Given the description of an element on the screen output the (x, y) to click on. 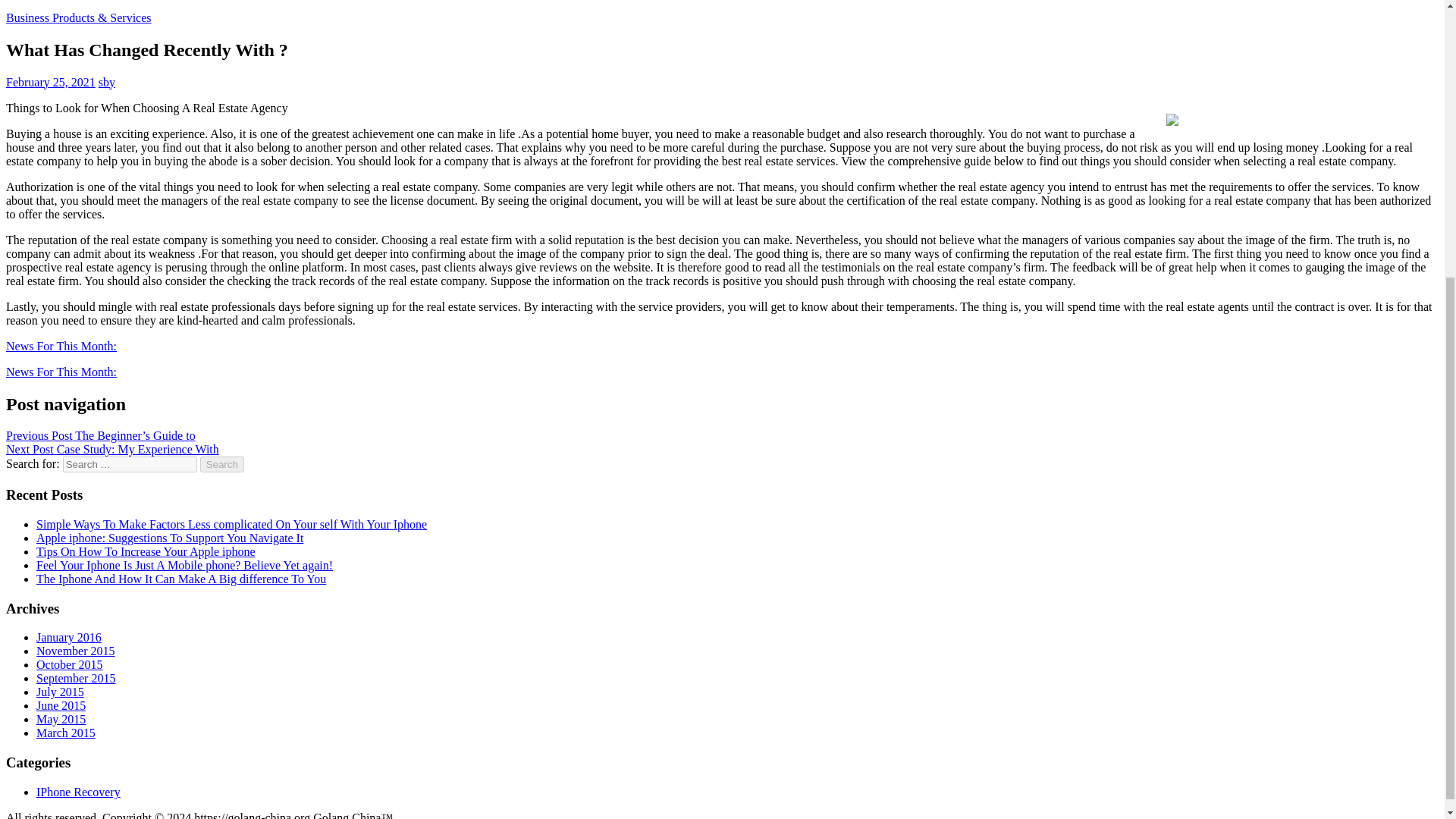
Tips On How To Increase Your Apple iphone (146, 551)
June 2015 (60, 705)
October 2015 (69, 664)
Apple iphone: Suggestions To Support You Navigate It (169, 537)
Next Post Case Study: My Experience With (112, 449)
March 2015 (66, 732)
July 2015 (60, 691)
IPhone Recovery (78, 791)
Search (222, 464)
November 2015 (75, 650)
News For This Month: (60, 371)
May 2015 (60, 718)
The Iphone And How It Can Make A Big difference To You (181, 578)
Feel Your Iphone Is Just A Mobile phone? Believe Yet again! (184, 564)
Search (222, 464)
